Given the description of an element on the screen output the (x, y) to click on. 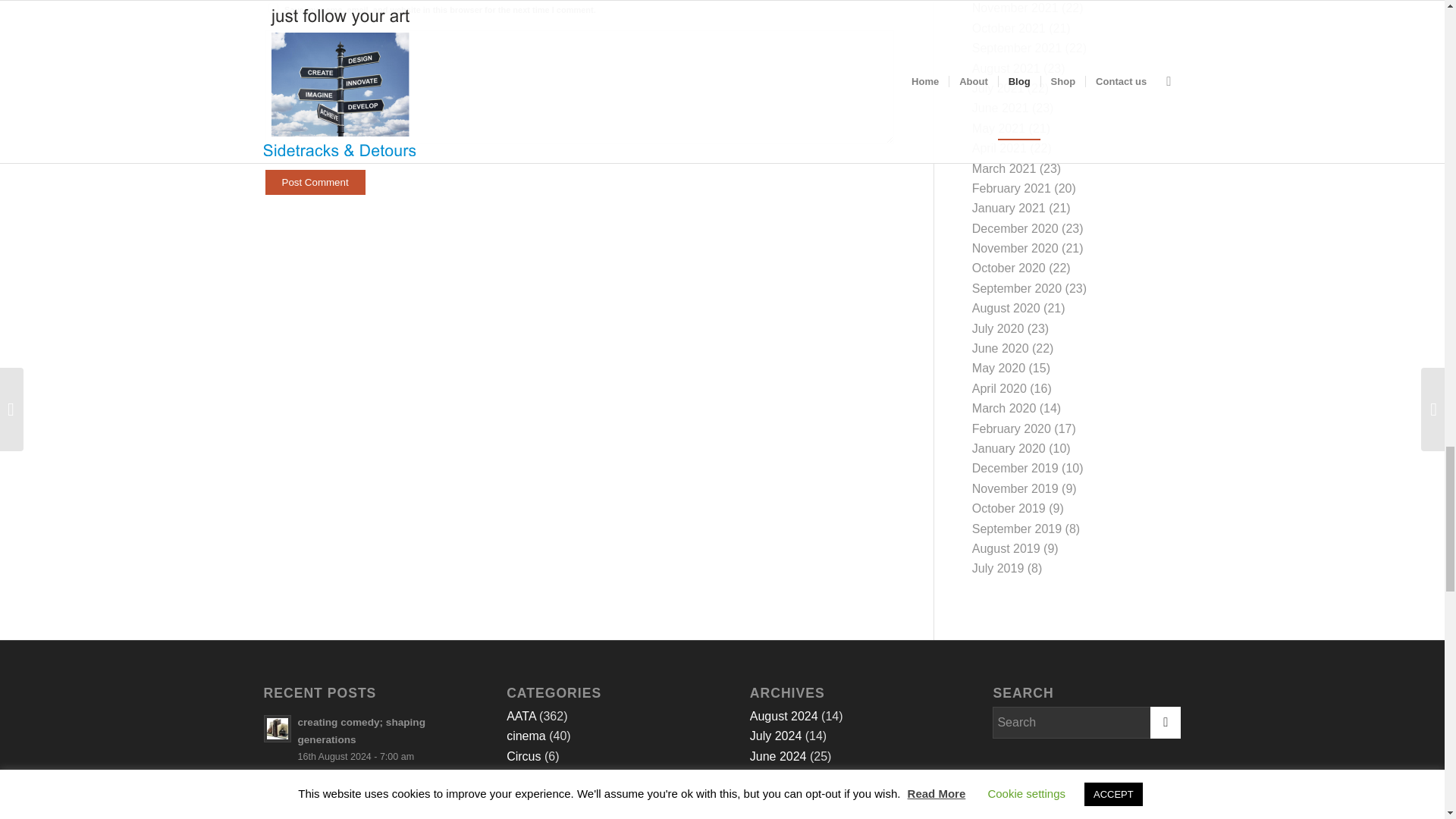
yes (272, 8)
Post Comment (314, 181)
Post Comment (314, 181)
